Given the description of an element on the screen output the (x, y) to click on. 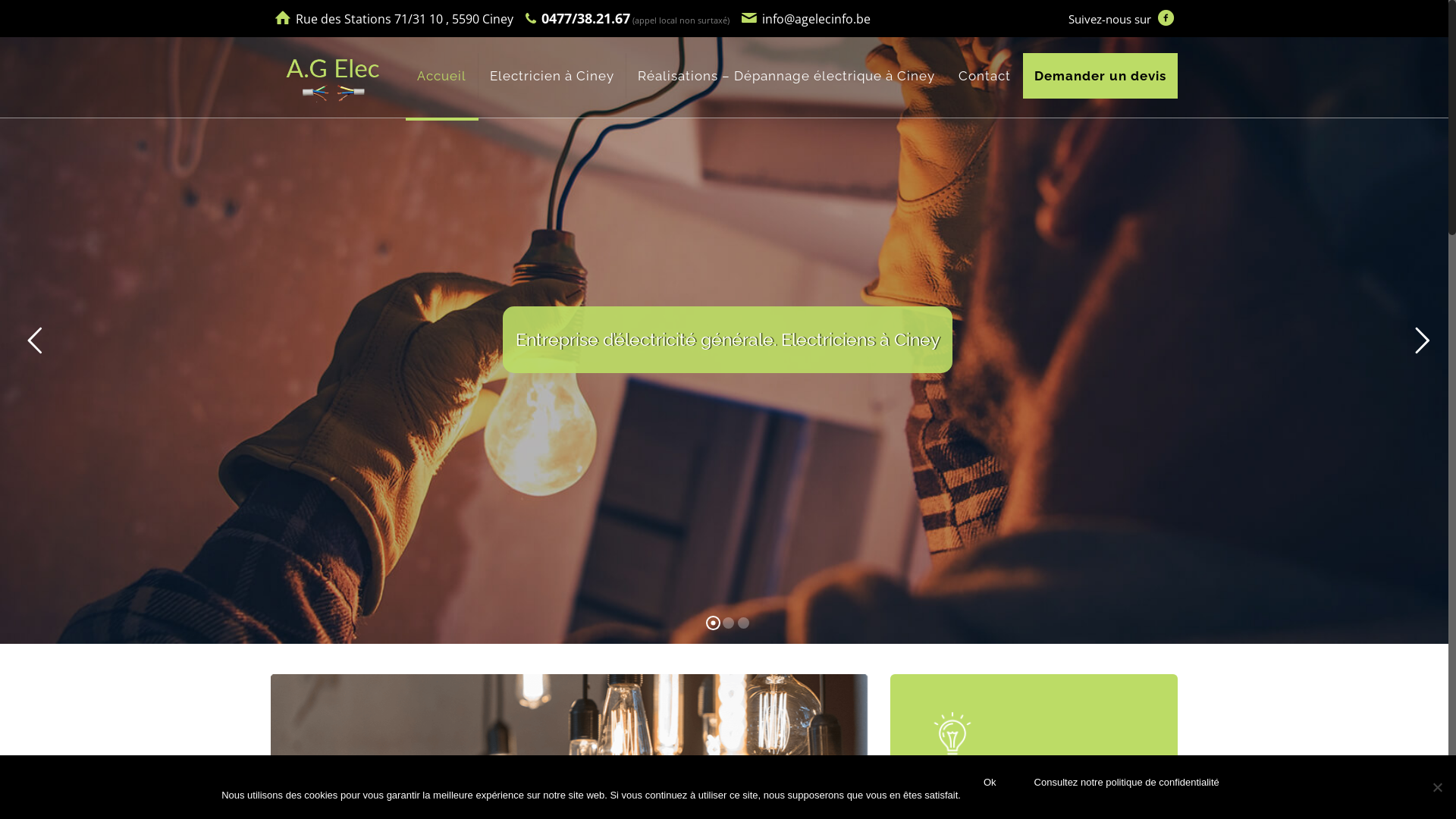
Accueil Element type: text (441, 75)
Contact Element type: text (984, 75)
0477/38.21.67 Element type: text (585, 18)
Non Element type: hover (1436, 786)
info@agelecinfo.be Element type: text (816, 18)
Demander un devis Element type: text (1099, 75)
AG Elec Element type: hover (332, 75)
Ok Element type: text (989, 782)
